Given the description of an element on the screen output the (x, y) to click on. 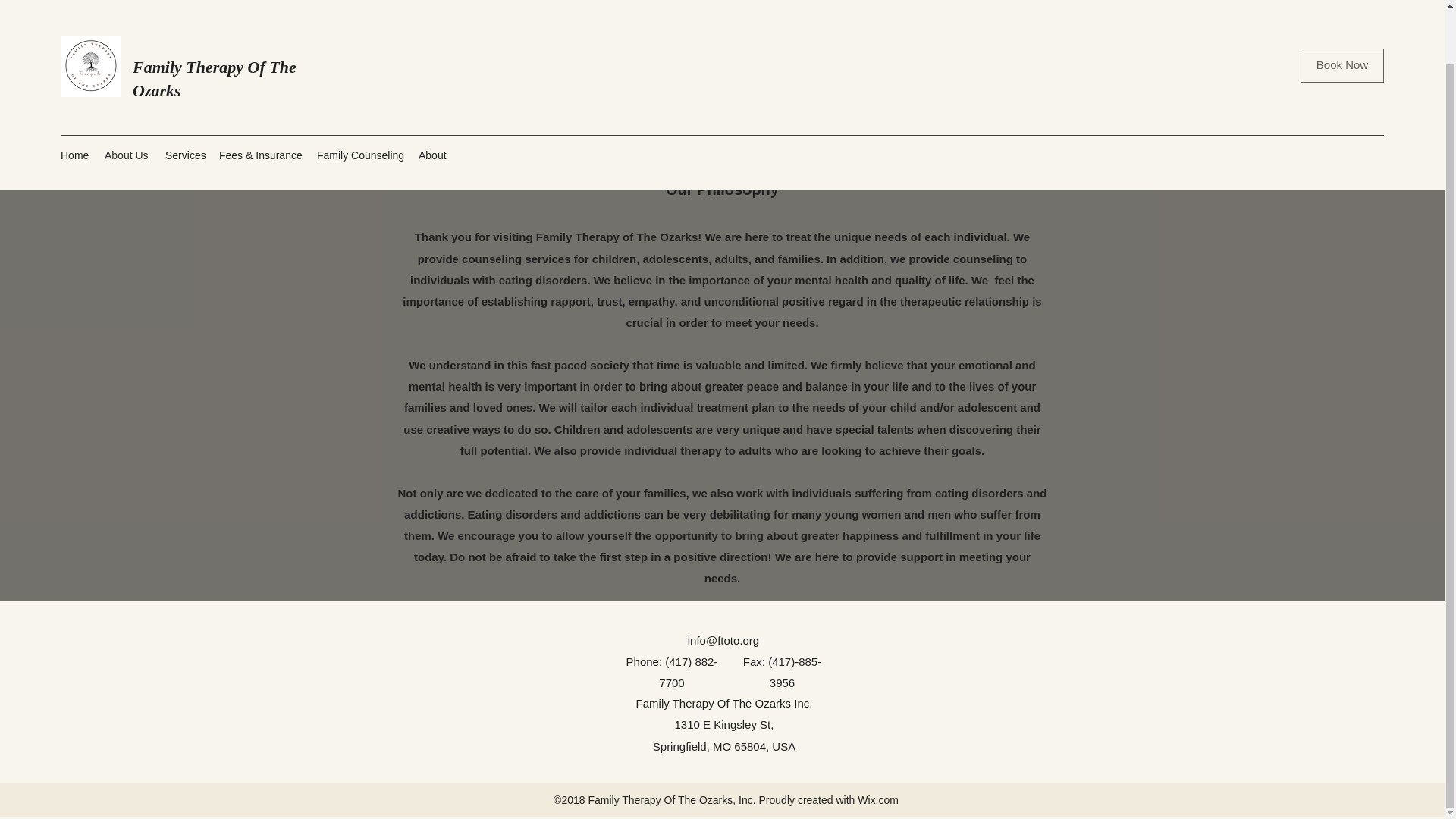
Book Now (1342, 12)
Services (184, 96)
Family Therapy Of The Ozarks (214, 20)
Home (74, 96)
About Us (127, 96)
Family Counseling (359, 96)
About (433, 96)
